Given the description of an element on the screen output the (x, y) to click on. 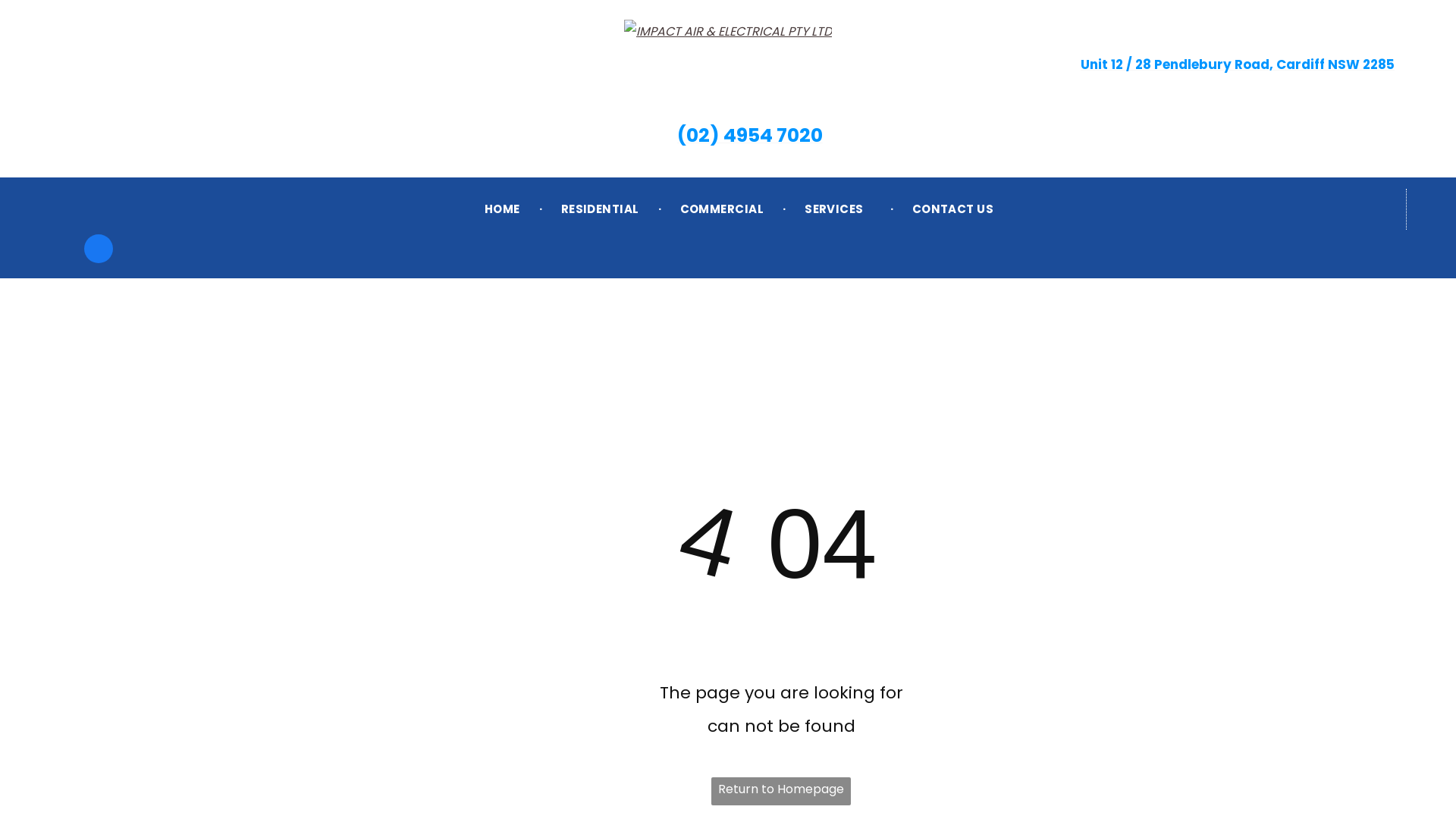
IMPACT AIR & ELECTRICAL PTY LTD Element type: hover (727, 31)
(02) 4954 7020 Element type: text (738, 135)
COMMERCIAL Element type: text (721, 209)
SERVICES Element type: text (837, 209)
CONTACT US Element type: text (952, 209)
HOME Element type: text (502, 209)
Unit 12 / 28 Pendlebury Road, Cardiff NSW 2285 Element type: text (1225, 76)
Return to Homepage Element type: text (780, 791)
RESIDENTIAL Element type: text (599, 209)
